Given the description of an element on the screen output the (x, y) to click on. 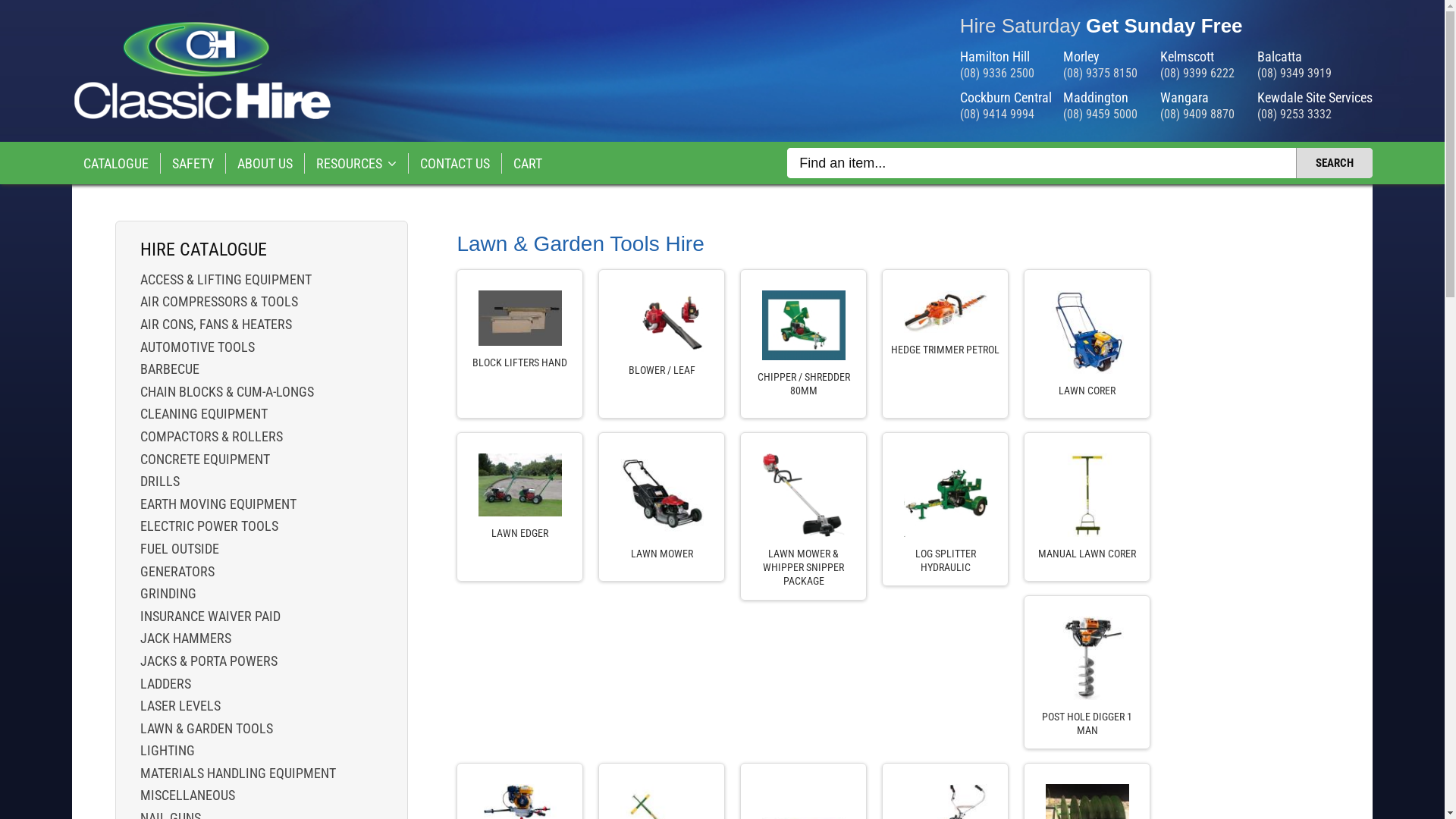
COMPACTORS & ROLLERS Element type: text (261, 436)
AIR COMPRESSORS & TOOLS Element type: text (261, 301)
POST HOLE DIGGER 1 MAN Element type: text (1086, 723)
(08) 9414 9994 Element type: text (997, 113)
LIGHTING Element type: text (261, 750)
LADDERS Element type: text (261, 682)
JACK HAMMERS Element type: text (261, 638)
(08) 9375 8150 Element type: text (1100, 72)
CONTACT US Element type: text (455, 163)
SEARCH Element type: text (1333, 162)
LAWN MOWER Element type: text (661, 553)
MISCELLANEOUS Element type: text (261, 795)
(08) 9399 6222 Element type: text (1197, 72)
(08) 9349 3919 Element type: text (1294, 72)
BLOWER / LEAF Element type: text (661, 369)
CONCRETE EQUIPMENT Element type: text (261, 459)
LAWN MOWER & WHIPPER SNIPPER PACKAGE Element type: text (803, 567)
LASER LEVELS Element type: text (261, 705)
(08) 9336 2500 Element type: text (997, 72)
(08) 9253 3332 Element type: text (1294, 113)
HEDGE TRIMMER PETROL Element type: text (945, 349)
ELECTRIC POWER TOOLS Element type: text (261, 525)
CHIPPER / SHREDDER 80MM Element type: text (803, 383)
(08) 9459 5000 Element type: text (1100, 113)
CHAIN BLOCKS & CUM-A-LONGS Element type: text (261, 391)
CATALOGUE Element type: text (116, 163)
DRILLS Element type: text (261, 481)
BLOCK LIFTERS HAND Element type: text (519, 362)
LAWN EDGER Element type: text (519, 532)
AIR CONS, FANS & HEATERS Element type: text (261, 324)
SAFETY Element type: text (192, 163)
ACCESS & LIFTING EQUIPMENT Element type: text (261, 279)
FUEL OUTSIDE Element type: text (261, 548)
MANUAL LAWN CORER Element type: text (1086, 553)
CLEANING EQUIPMENT Element type: text (261, 413)
BARBECUE Element type: text (261, 368)
MATERIALS HANDLING EQUIPMENT Element type: text (261, 773)
(08) 9409 8870 Element type: text (1197, 113)
EARTH MOVING EQUIPMENT Element type: text (261, 503)
JACKS & PORTA POWERS Element type: text (261, 660)
LOG SPLITTER HYDRAULIC Element type: text (945, 560)
INSURANCE WAIVER PAID Element type: text (261, 616)
GENERATORS Element type: text (261, 571)
LAWN CORER Element type: text (1086, 390)
CART Element type: text (527, 163)
RESOURCES Element type: text (356, 163)
GRINDING Element type: text (261, 593)
AUTOMOTIVE TOOLS Element type: text (261, 346)
Classic Hire Element type: hover (202, 116)
LAWN & GARDEN TOOLS Element type: text (261, 728)
ABOUT US Element type: text (264, 163)
